Given the description of an element on the screen output the (x, y) to click on. 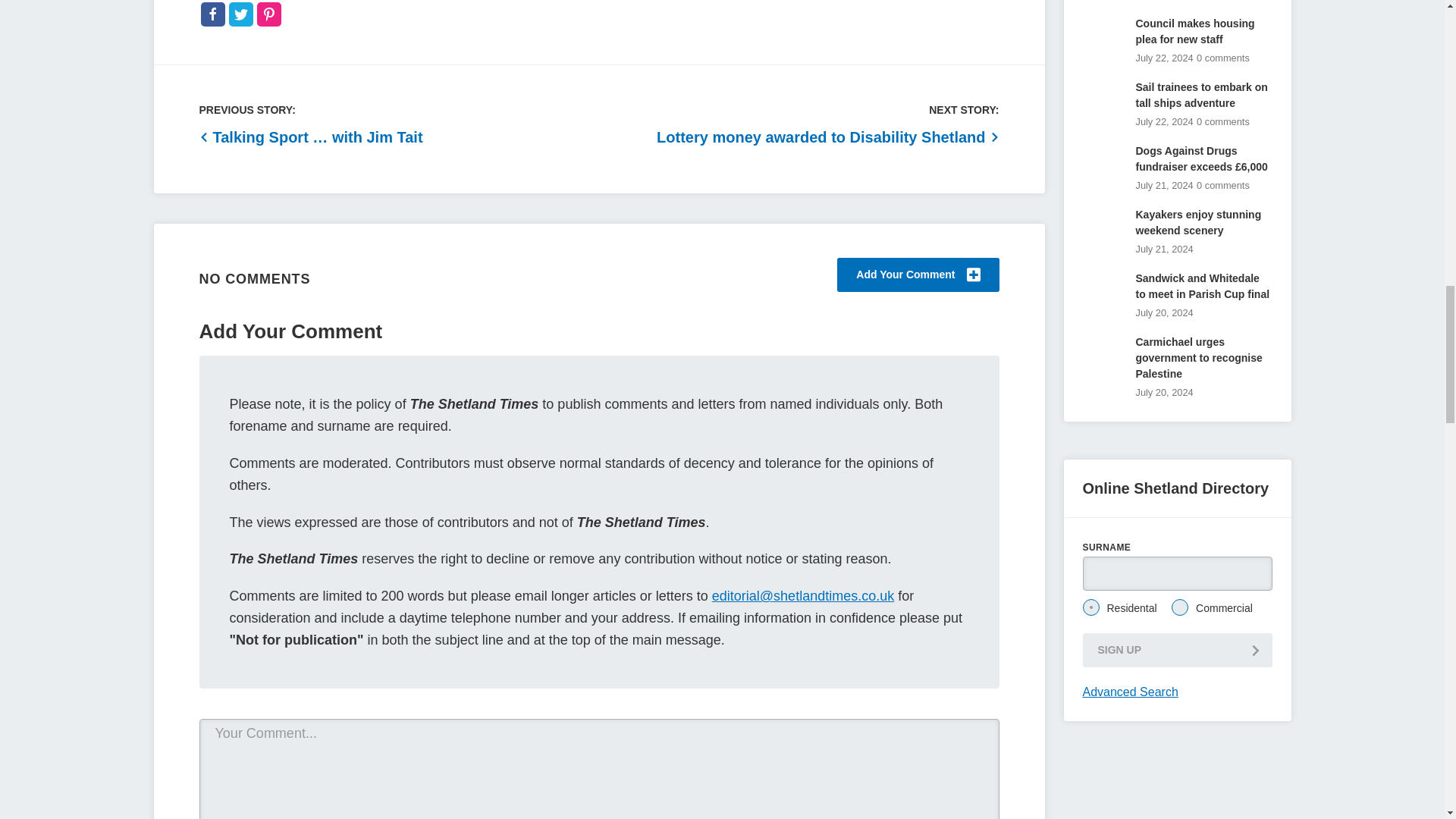
commercial (1180, 606)
Add Your Comment (917, 274)
residential (1091, 606)
Lottery money awarded to Disability Shetland (827, 137)
